Given the description of an element on the screen output the (x, y) to click on. 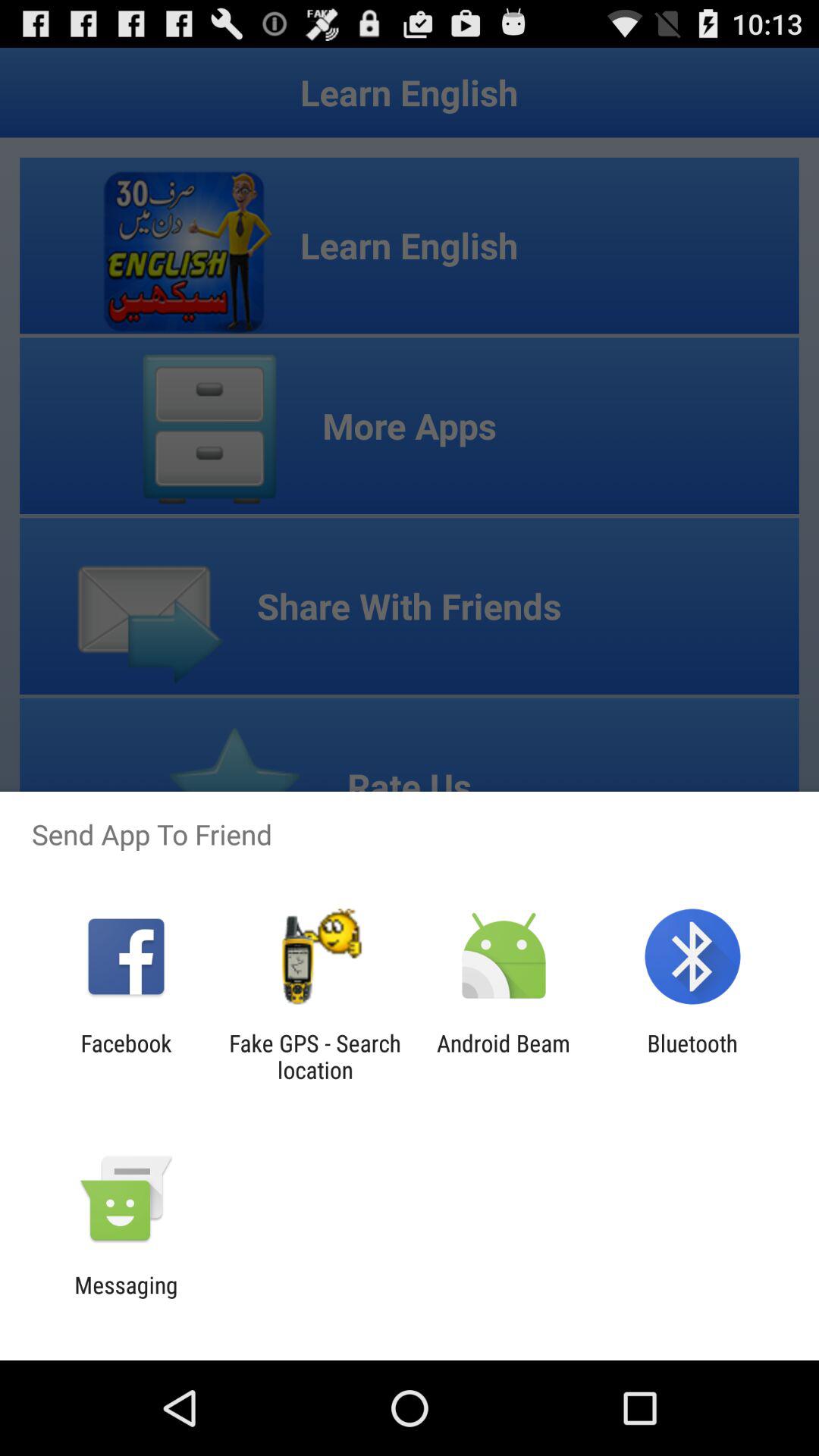
select item at the bottom right corner (692, 1056)
